Given the description of an element on the screen output the (x, y) to click on. 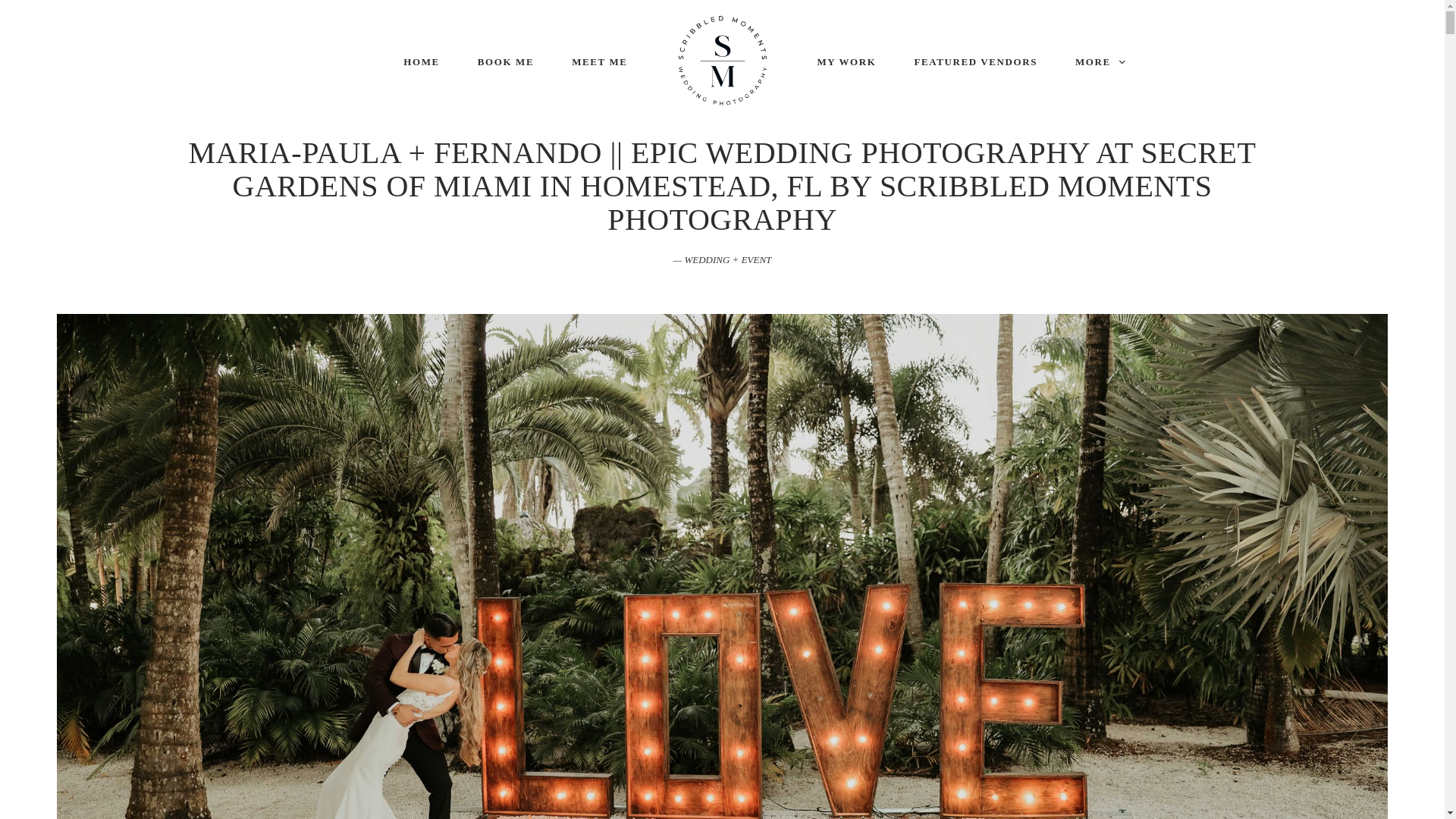
MY WORK (846, 61)
HOME (421, 61)
BOOK ME (505, 61)
FEATURED VENDORS (976, 61)
MORE (1099, 61)
MEET ME (599, 61)
